Given the description of an element on the screen output the (x, y) to click on. 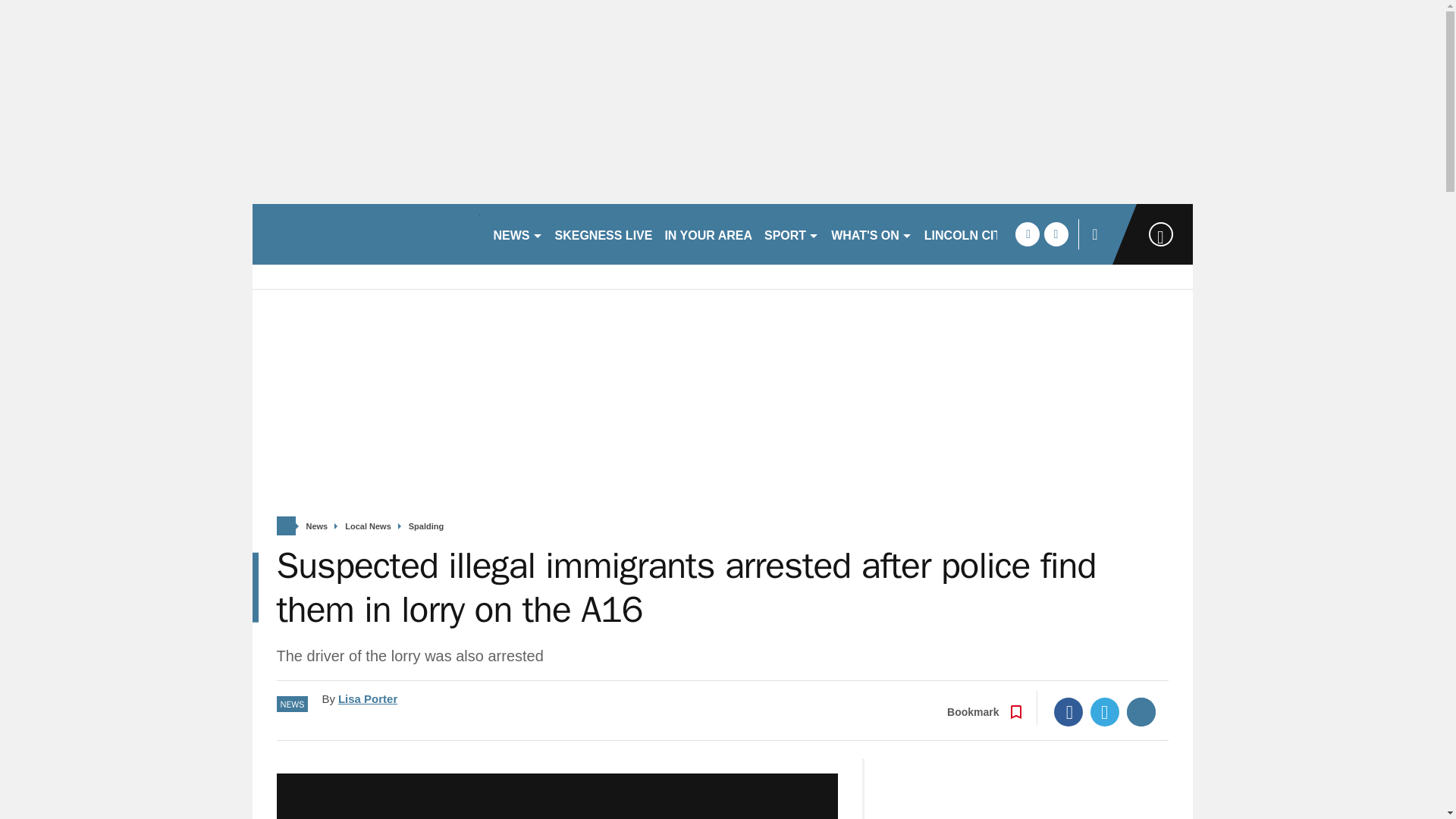
Twitter (1104, 711)
SKEGNESS LIVE (603, 233)
LINCOLN CITY FC (975, 233)
NEWS (517, 233)
Facebook (1068, 711)
lincolnshirelive (365, 233)
facebook (1026, 233)
twitter (1055, 233)
SPORT (791, 233)
WHAT'S ON (871, 233)
